Given the description of an element on the screen output the (x, y) to click on. 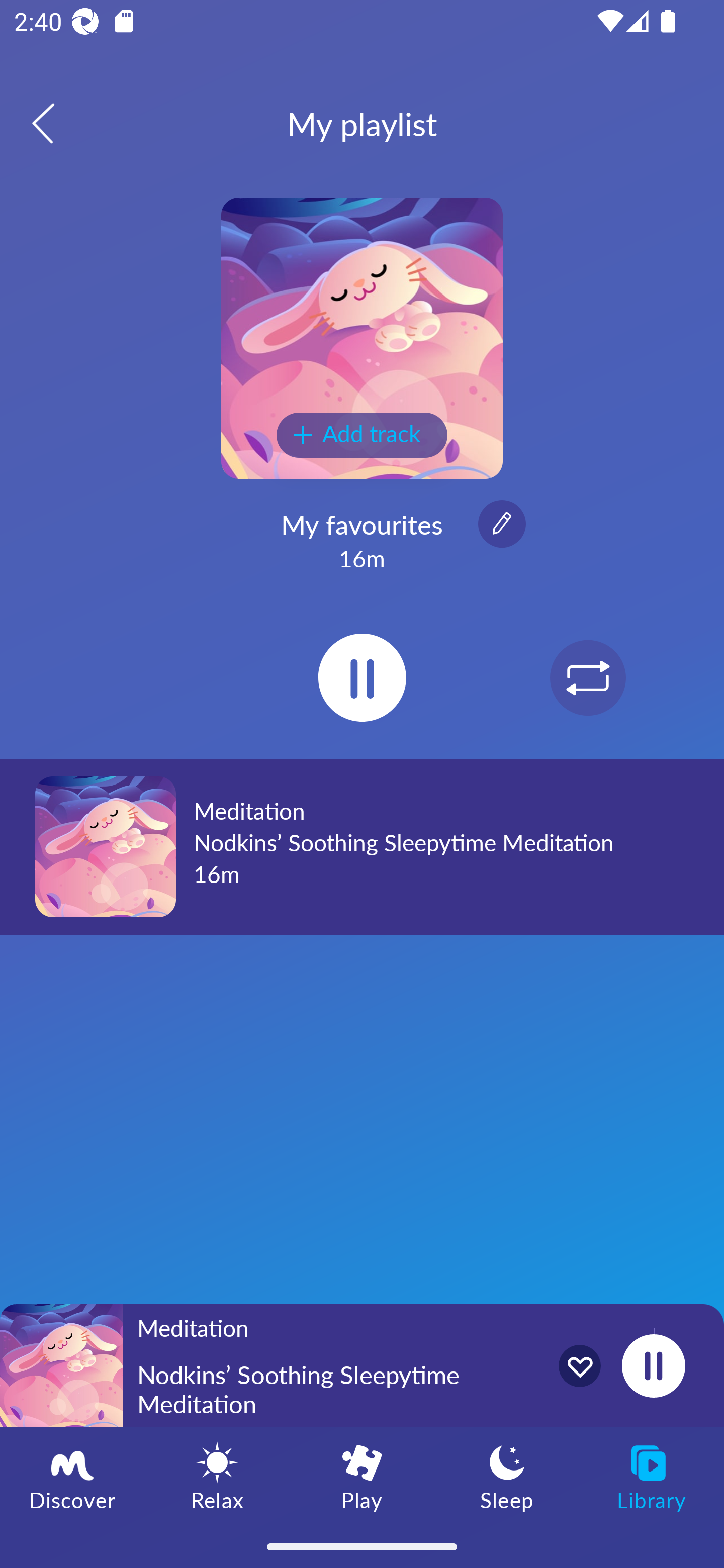
Add track (361, 434)
0.002084375 Pause (653, 1365)
Discover (72, 1475)
Relax (216, 1475)
Play (361, 1475)
Sleep (506, 1475)
